Given the description of an element on the screen output the (x, y) to click on. 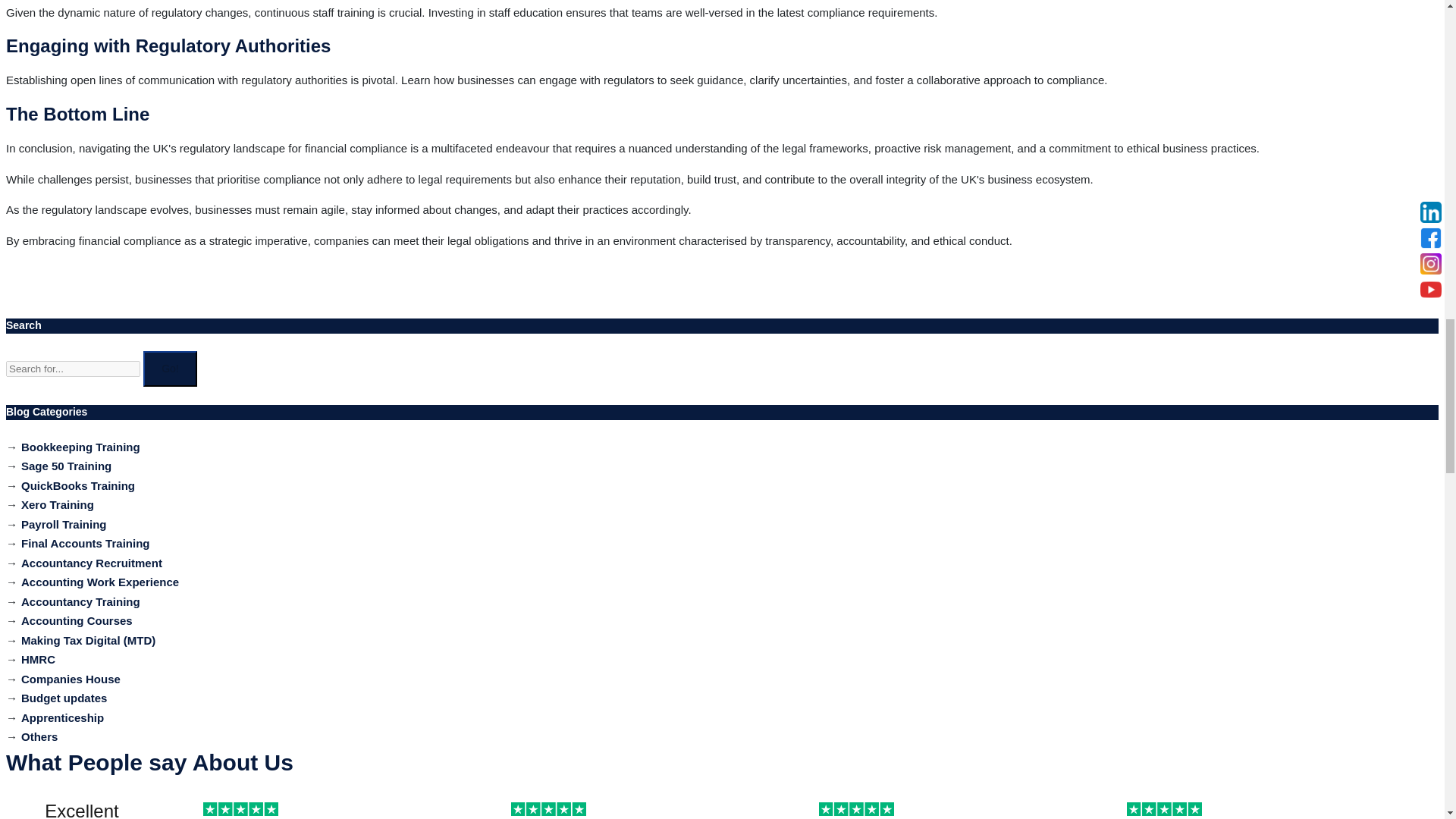
Customer reviews powered by Trustpilot (721, 810)
